Given the description of an element on the screen output the (x, y) to click on. 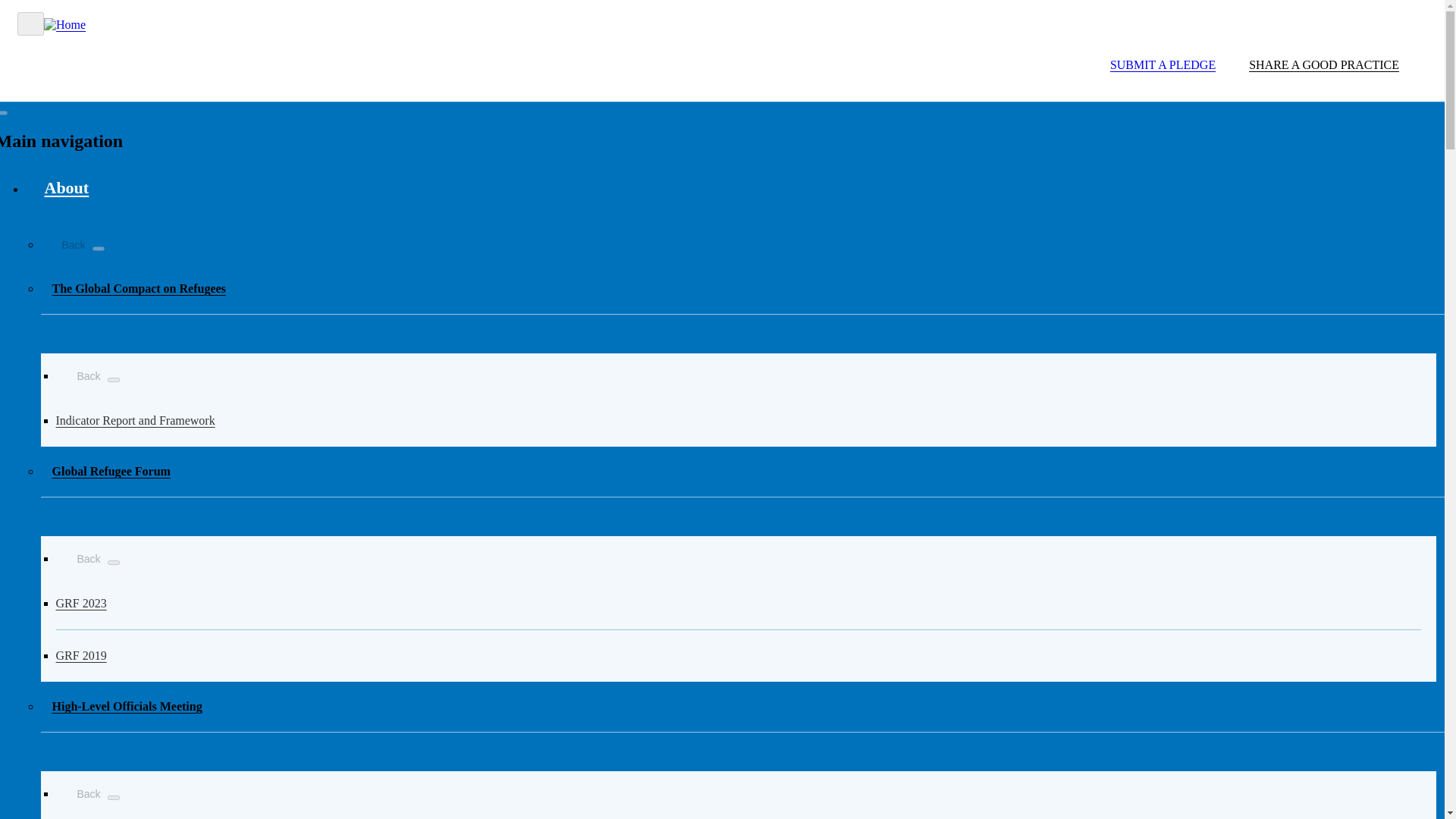
Back (80, 557)
GRF 2023 (738, 603)
Back (80, 792)
Search (1049, 43)
Skip to main content (722, 7)
SUBMIT A PLEDGE (1152, 64)
SHARE A GOOD PRACTICE (1324, 64)
More information (66, 187)
About (66, 187)
Indicator Report and Framework (738, 420)
Back (80, 373)
Search (1036, 84)
Back (64, 242)
GRF 2019 (738, 655)
